Given the description of an element on the screen output the (x, y) to click on. 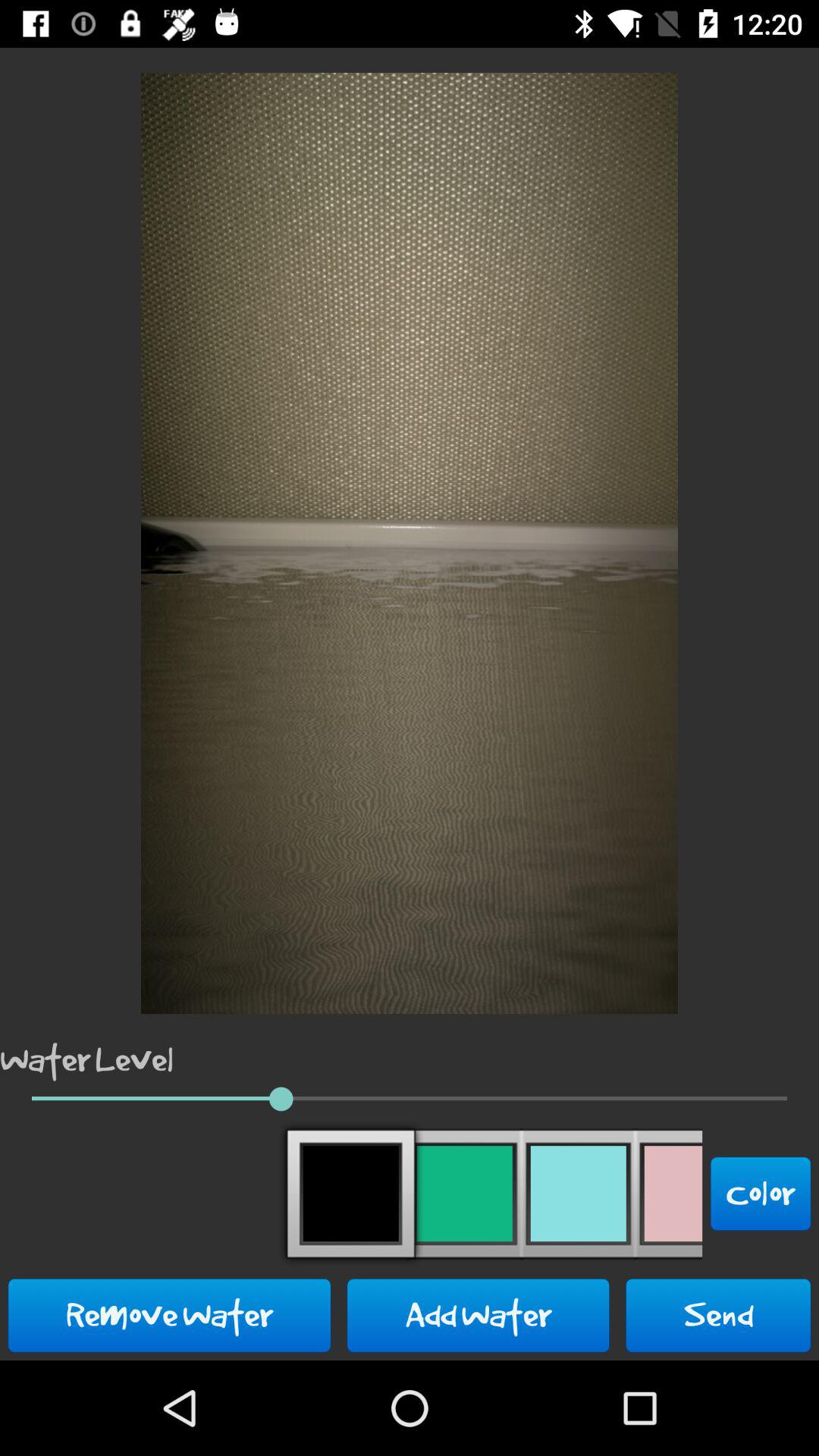
swipe until the remove water icon (169, 1315)
